Given the description of an element on the screen output the (x, y) to click on. 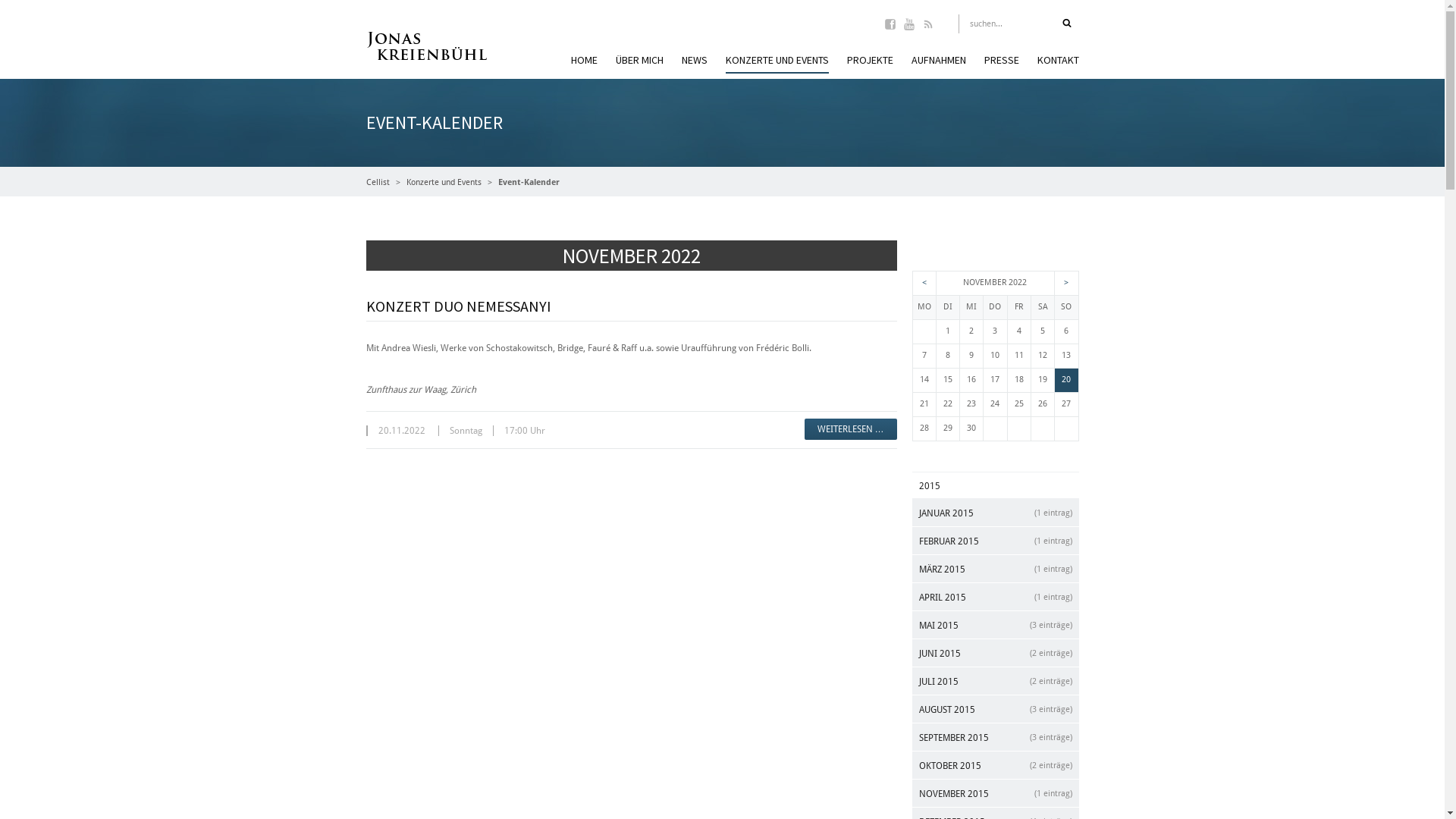
JANUAR 2015
(1 eintrag) Element type: text (994, 512)
NOVEMBER 2015
(1 eintrag) Element type: text (994, 792)
20 Element type: text (1065, 379)
> Element type: text (1065, 282)
< Element type: text (924, 282)
Konzerte und Events Element type: text (443, 182)
KONZERT DUO NEMESSANYI Element type: text (457, 305)
KONTAKT Element type: text (1058, 62)
KONZERTE UND EVENTS Element type: text (776, 62)
Facebook Element type: hover (890, 25)
AUFNAHMEN Element type: text (938, 62)
PRESSE Element type: text (1001, 62)
APRIL 2015
(1 eintrag) Element type: text (994, 596)
HOME Element type: text (583, 62)
FEBRUAR 2015
(1 eintrag) Element type: text (994, 540)
PROJEKTE Element type: text (869, 62)
RSS Element type: hover (928, 25)
NEWS Element type: text (693, 62)
Cellist Element type: text (377, 182)
2015 Element type: text (994, 484)
Youtube Element type: hover (908, 25)
